Given the description of an element on the screen output the (x, y) to click on. 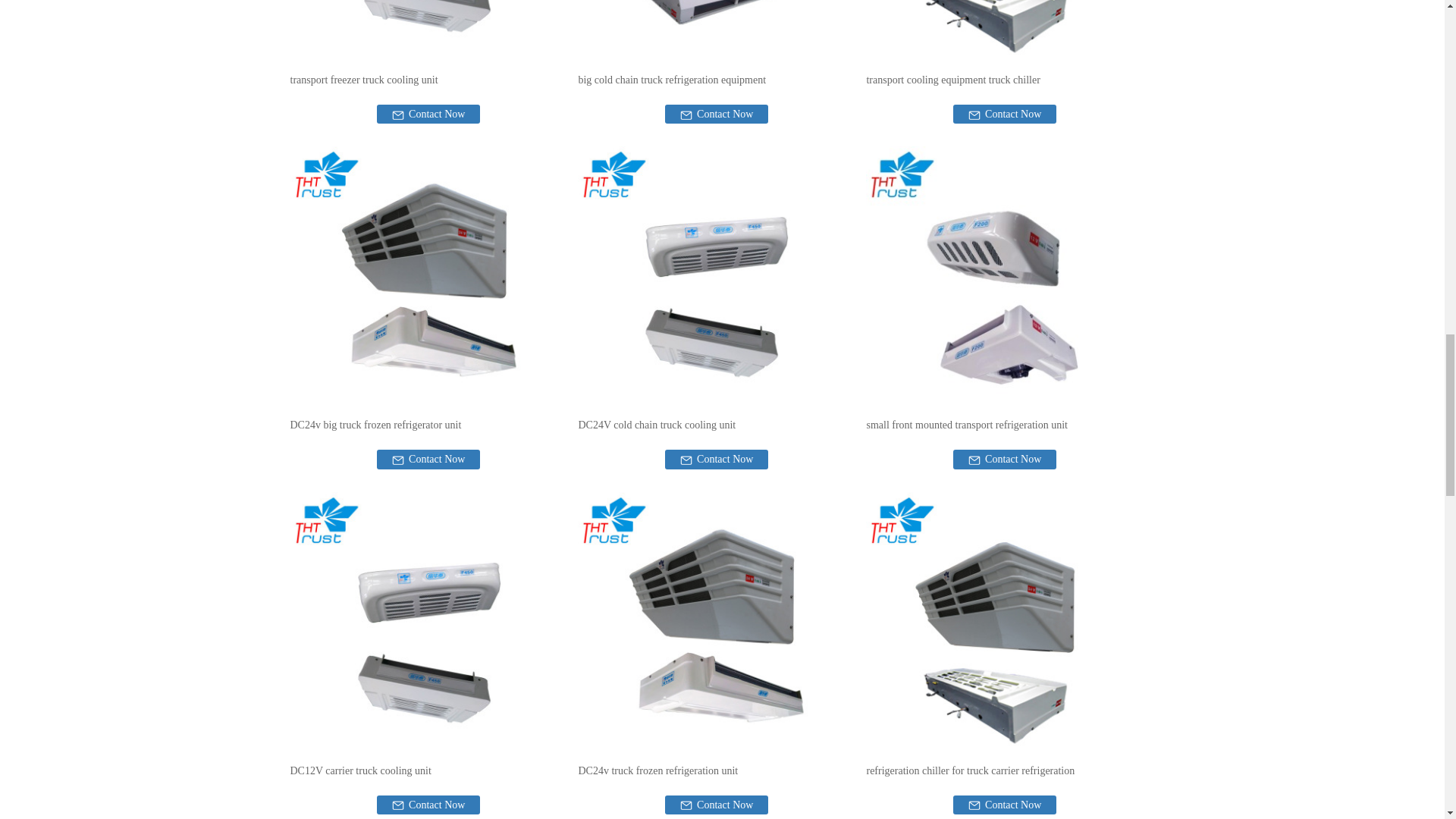
Contact Now (428, 113)
